Given the description of an element on the screen output the (x, y) to click on. 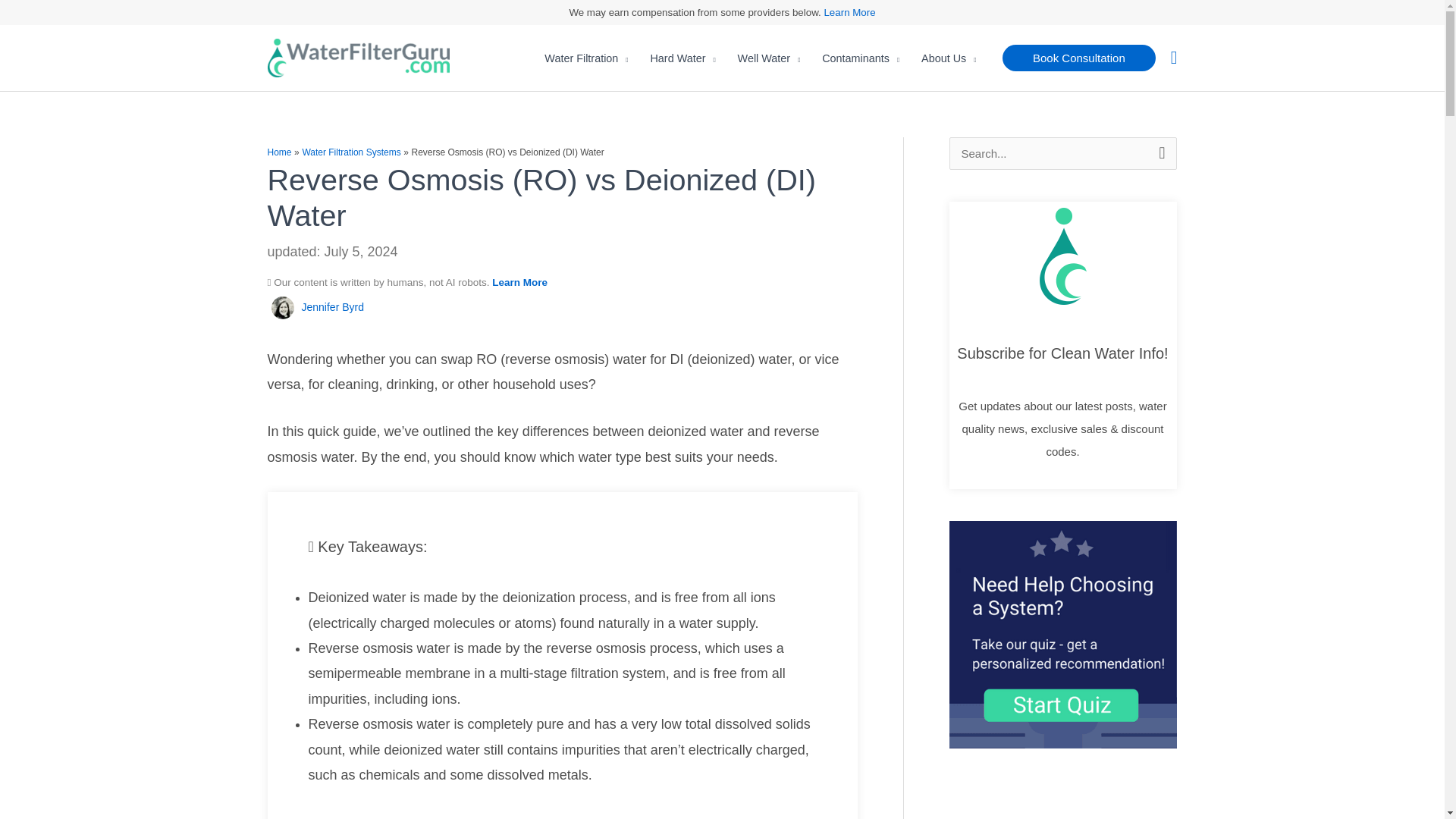
Jennifer Byrd (332, 306)
Well Water (768, 58)
Hard Water (682, 58)
Learn More (849, 12)
Search (1158, 152)
Water Filtration (586, 58)
Search (1158, 152)
